Given the description of an element on the screen output the (x, y) to click on. 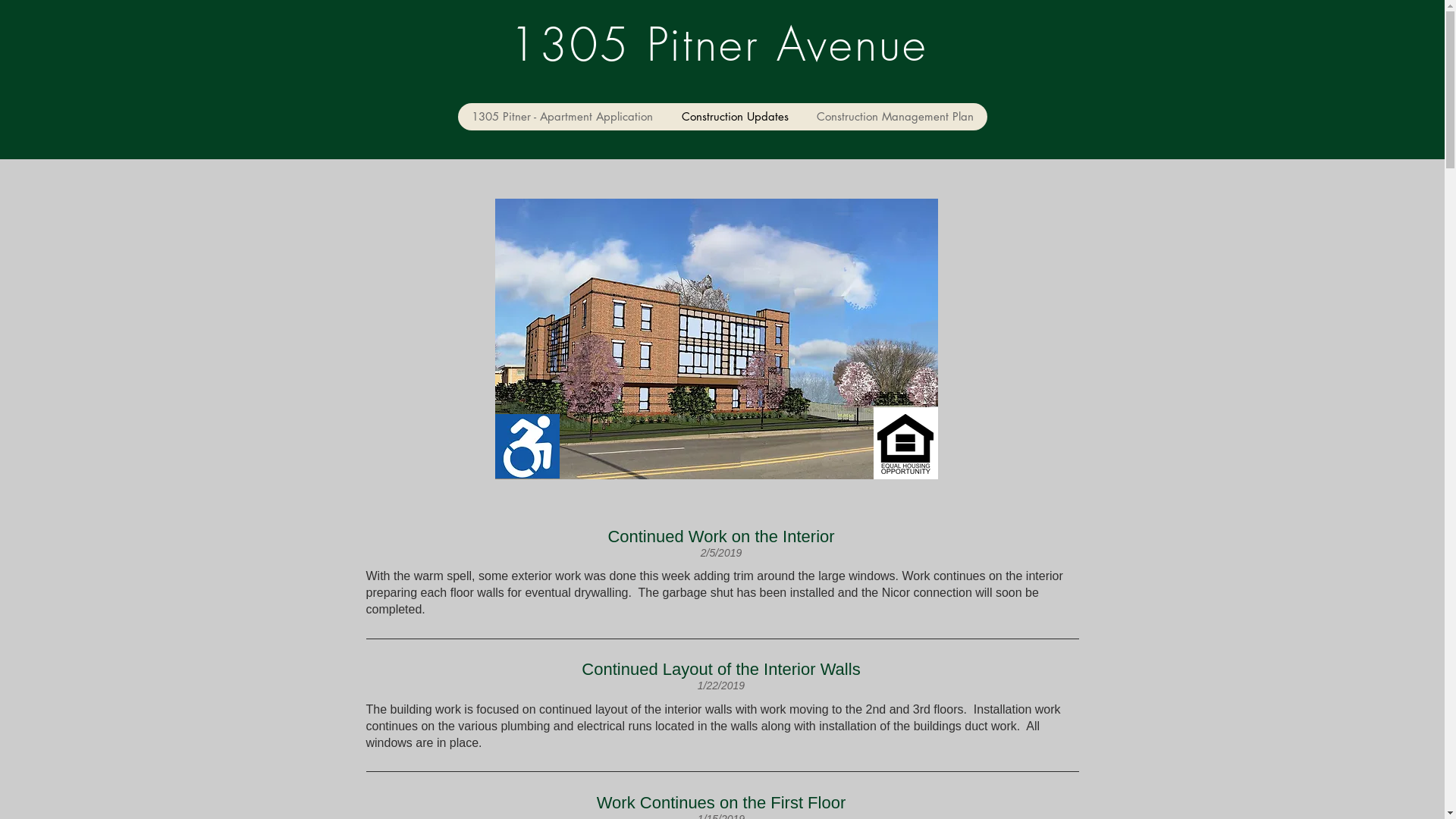
Construction Management Plan Element type: text (894, 116)
1305 Pitner - Apartment Application Element type: text (562, 116)
Construction Updates Element type: text (734, 116)
